Given the description of an element on the screen output the (x, y) to click on. 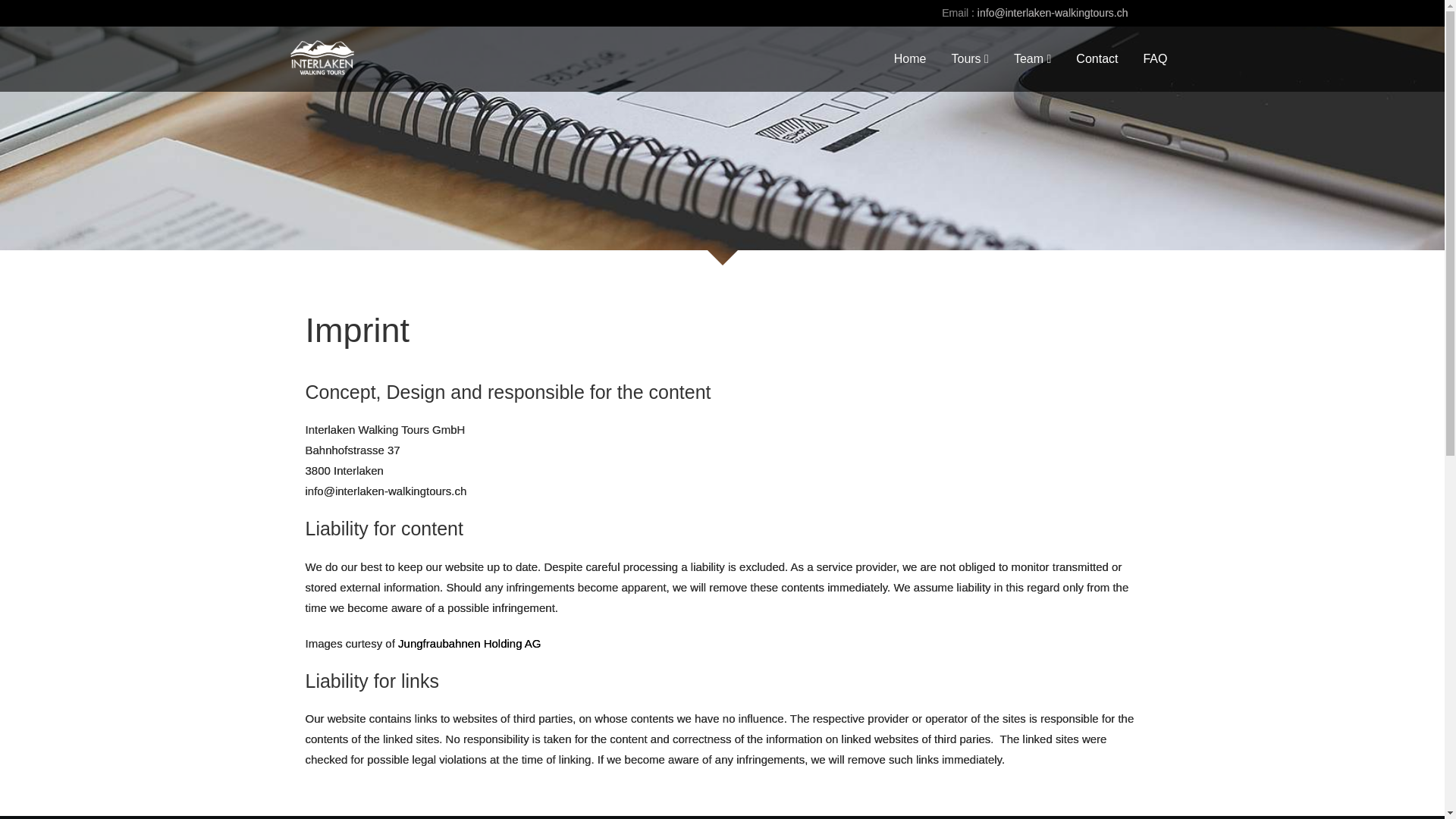
Tours (968, 58)
Contact (1096, 58)
Team (1032, 58)
Jungfraubahnen Holding AG (468, 643)
